Given the description of an element on the screen output the (x, y) to click on. 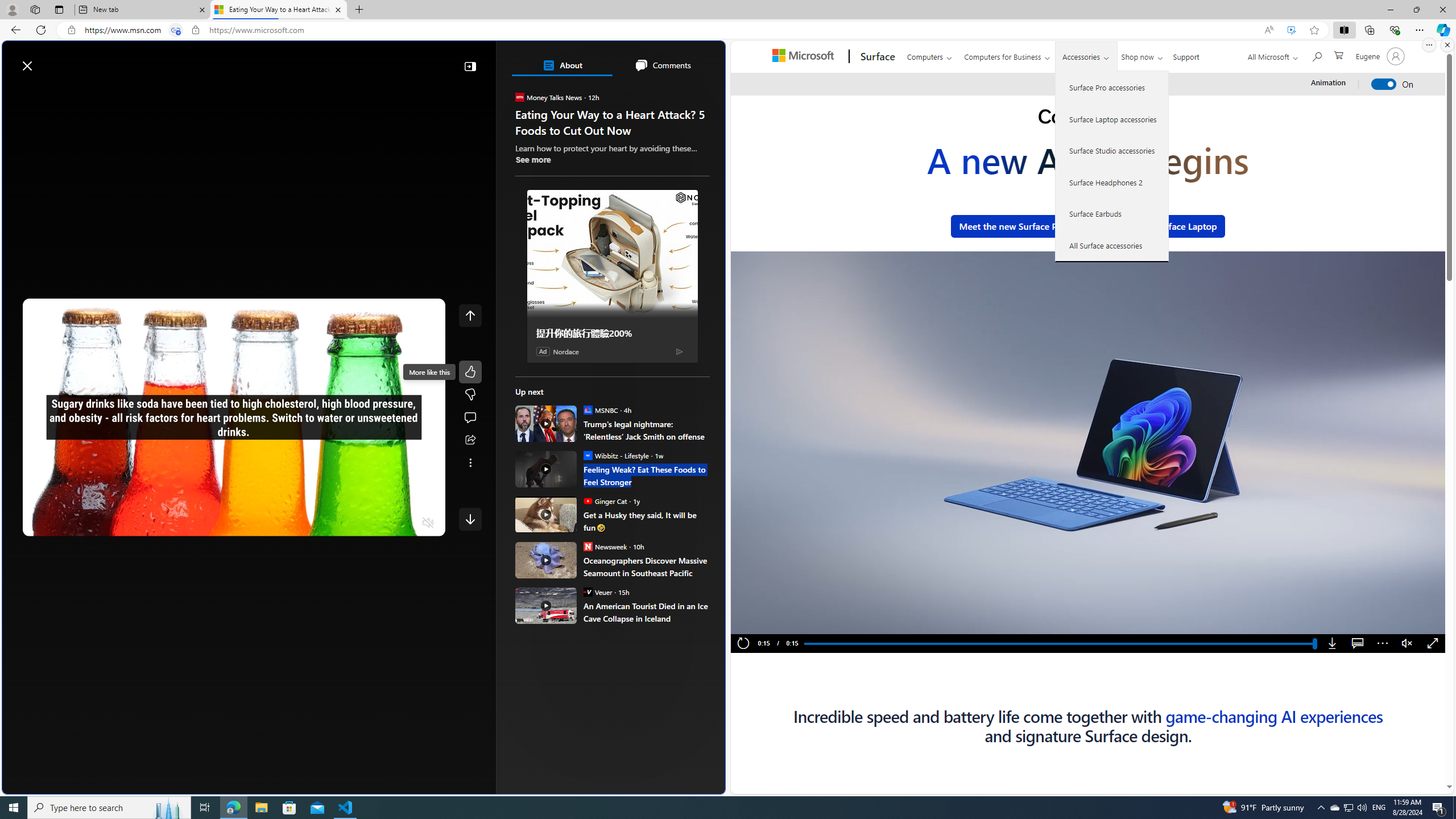
Surface (876, 56)
Newsweek Newsweek (604, 546)
Ginger Cat Ginger Cat (604, 500)
Surface Pro accessories (1112, 87)
Ginger Cat (587, 500)
Like (469, 371)
Close split screen. (1447, 45)
Class: control (469, 518)
